Given the description of an element on the screen output the (x, y) to click on. 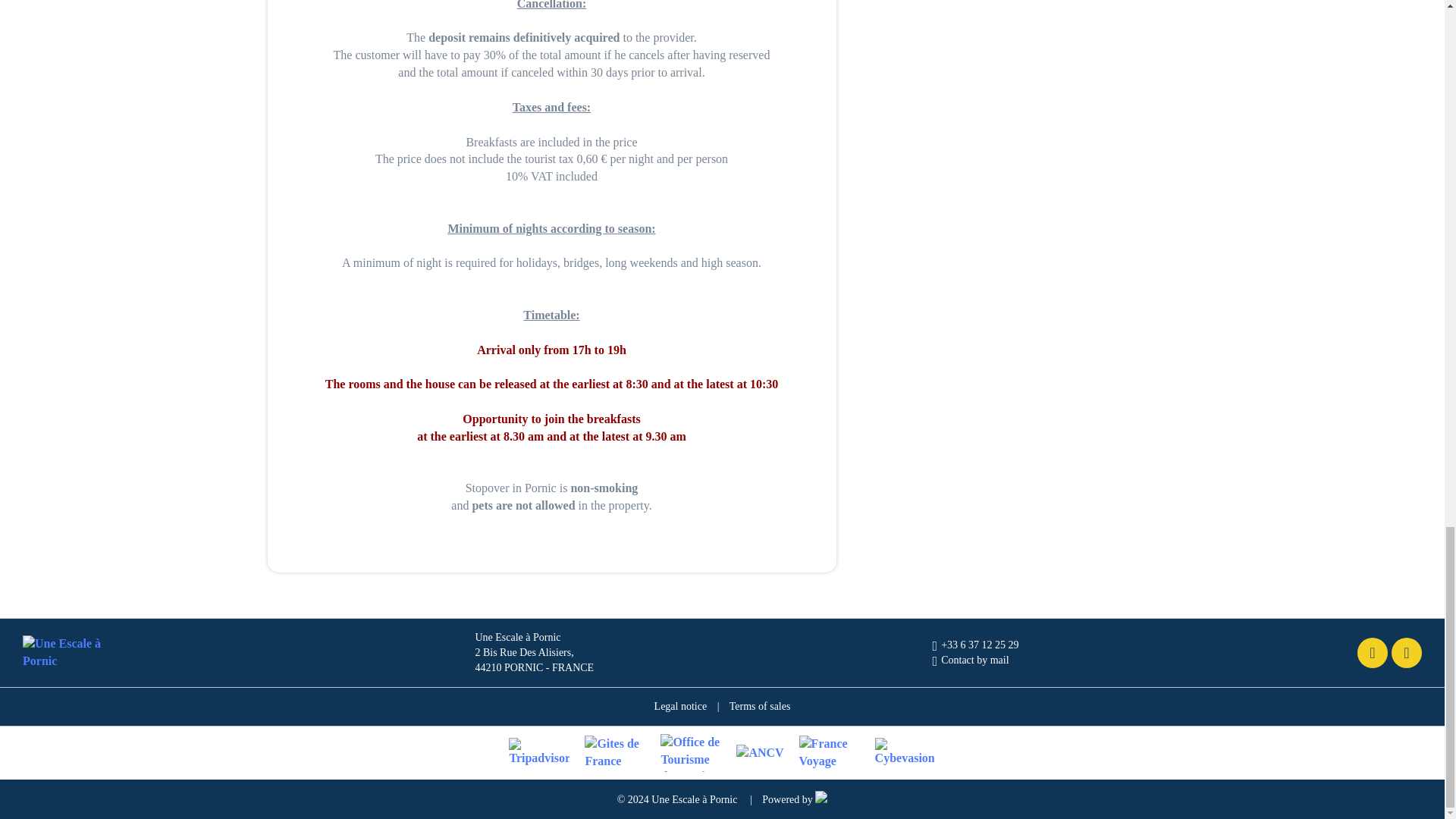
Contact by mail (971, 659)
